Given the description of an element on the screen output the (x, y) to click on. 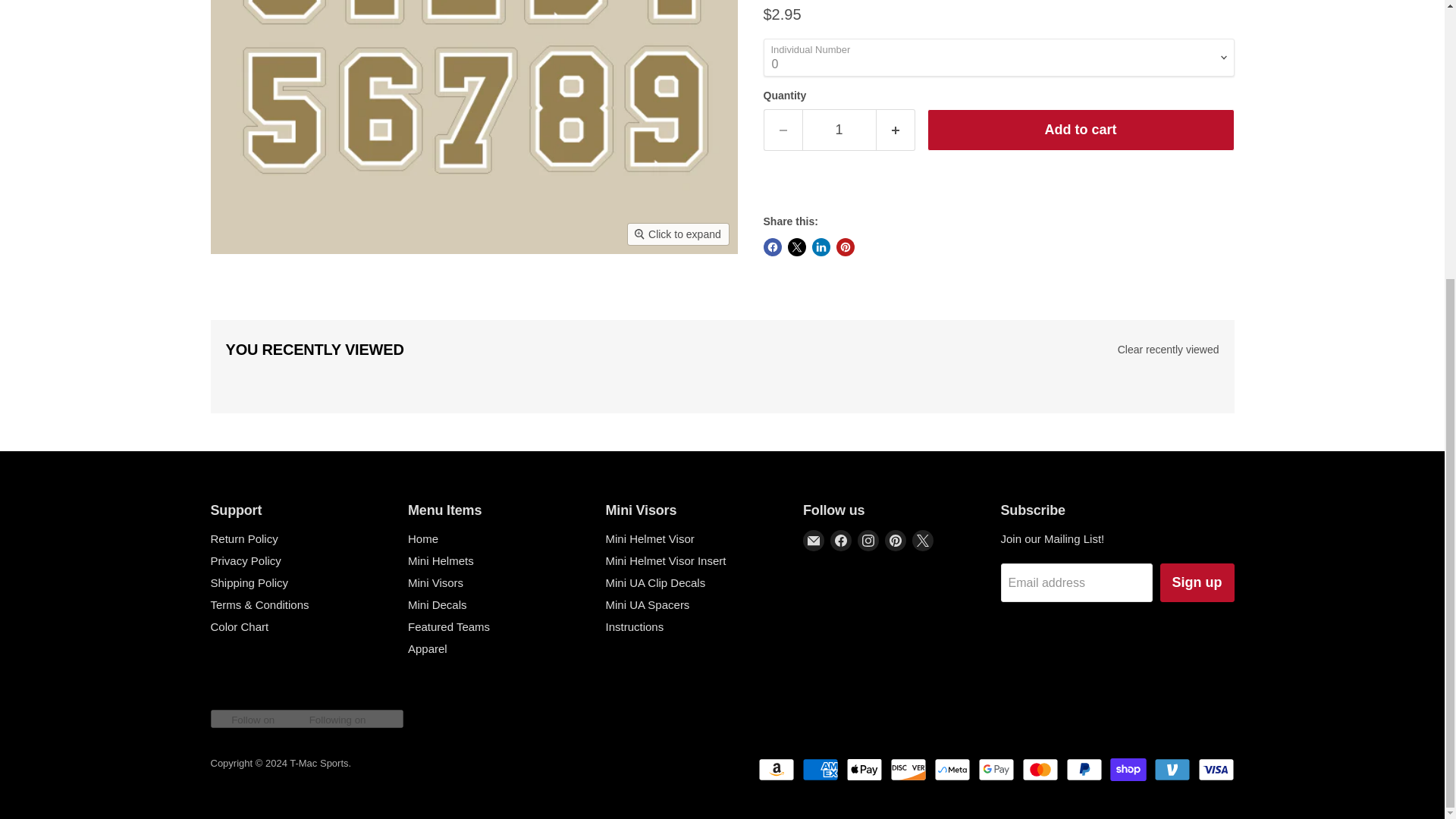
Pinterest (895, 540)
X (922, 540)
1 (839, 129)
Email (813, 540)
Instagram (868, 540)
Facebook (840, 540)
